Given the description of an element on the screen output the (x, y) to click on. 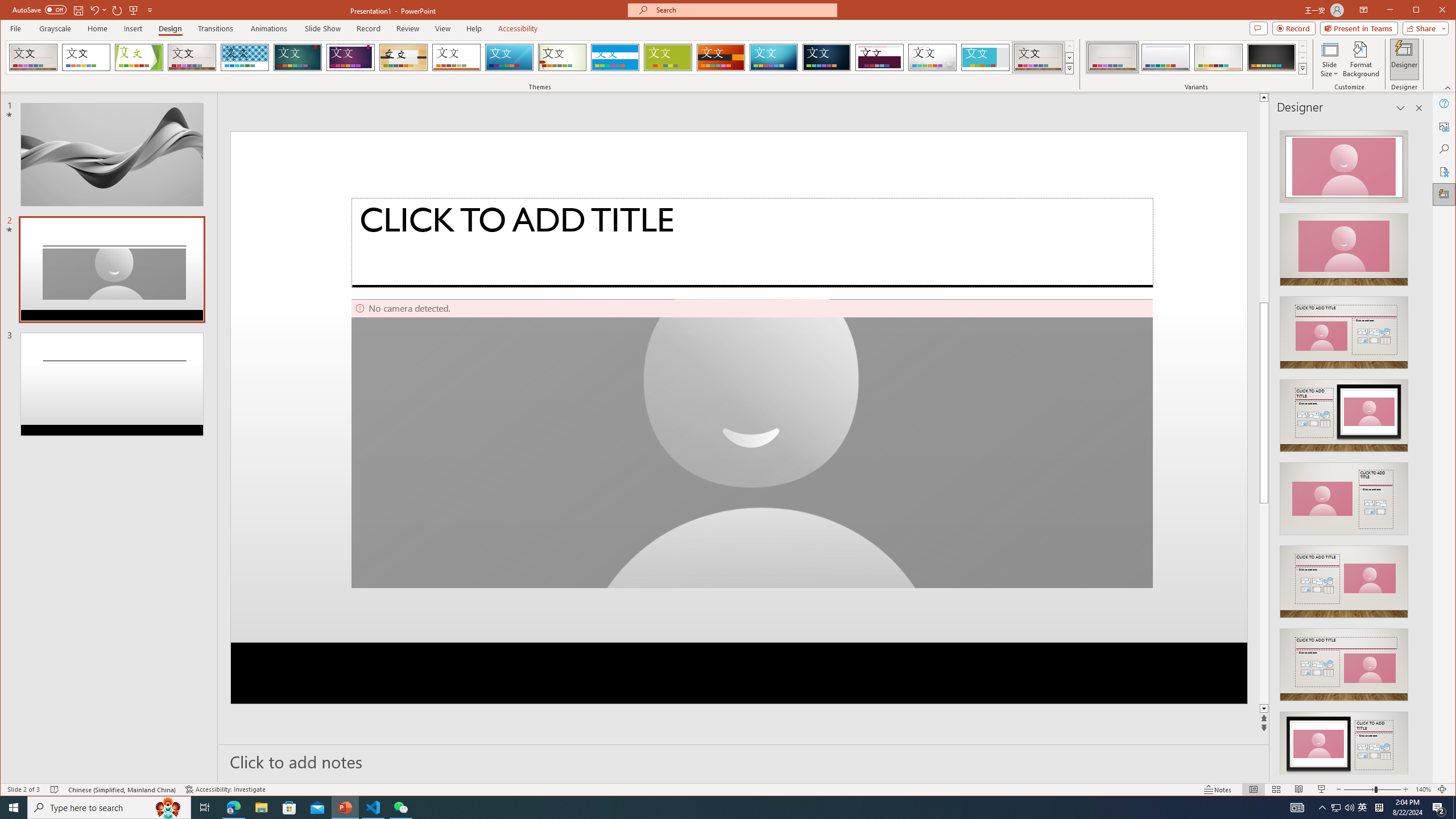
Type here to search (108, 807)
Task View (204, 807)
Search (1444, 148)
AutomationID: SlideThemesGallery (540, 57)
Search highlights icon opens search home window (167, 807)
Design Idea (1343, 744)
Format Background (1360, 59)
Class: NetUIScrollBar (1417, 447)
Ion (297, 57)
Frame (985, 57)
Retrospect (456, 57)
Variants (1302, 68)
